Given the description of an element on the screen output the (x, y) to click on. 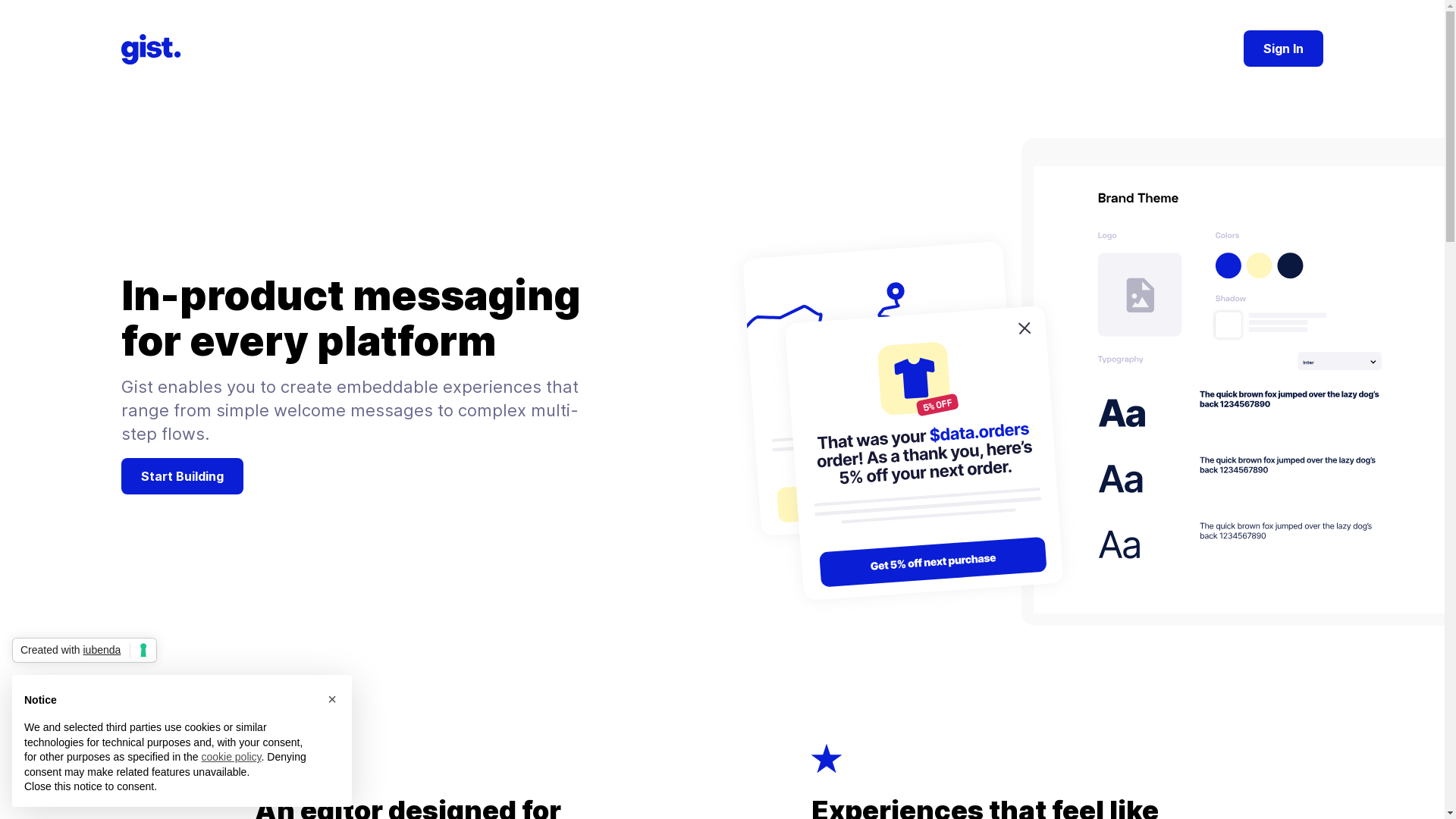
Created with iubenda Element type: text (84, 650)
Start Building Element type: text (182, 476)
cookie policy Element type: text (230, 756)
Sign In Element type: text (1283, 48)
